Given the description of an element on the screen output the (x, y) to click on. 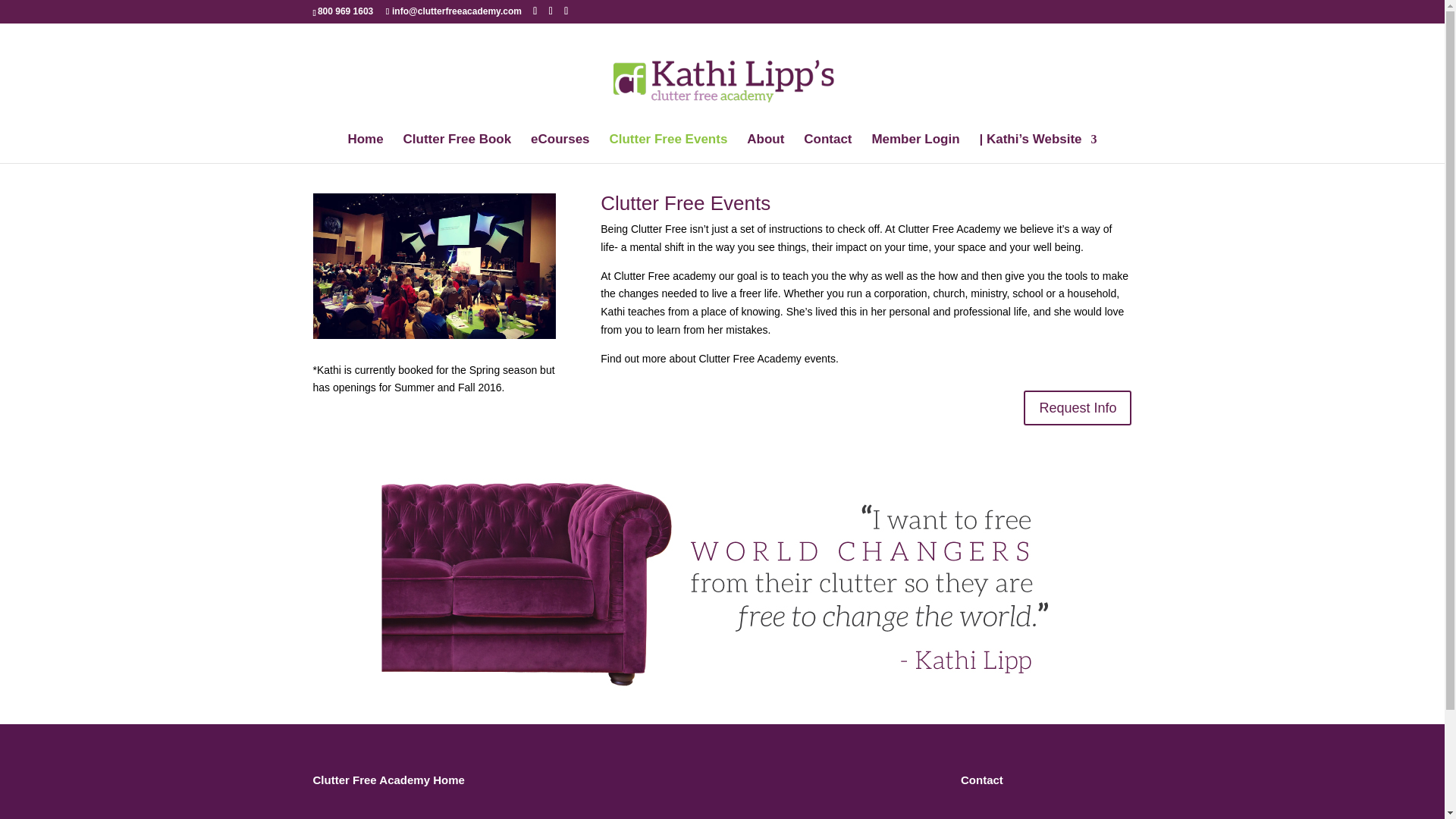
Home (364, 148)
About (765, 148)
Request Info (1077, 407)
Clutter Free Book (457, 148)
Contact (981, 779)
Clutter Free Events (667, 148)
Clutter Free Academy Home (388, 779)
eCourses (560, 148)
Contact (827, 148)
Member Login (914, 148)
